Given the description of an element on the screen output the (x, y) to click on. 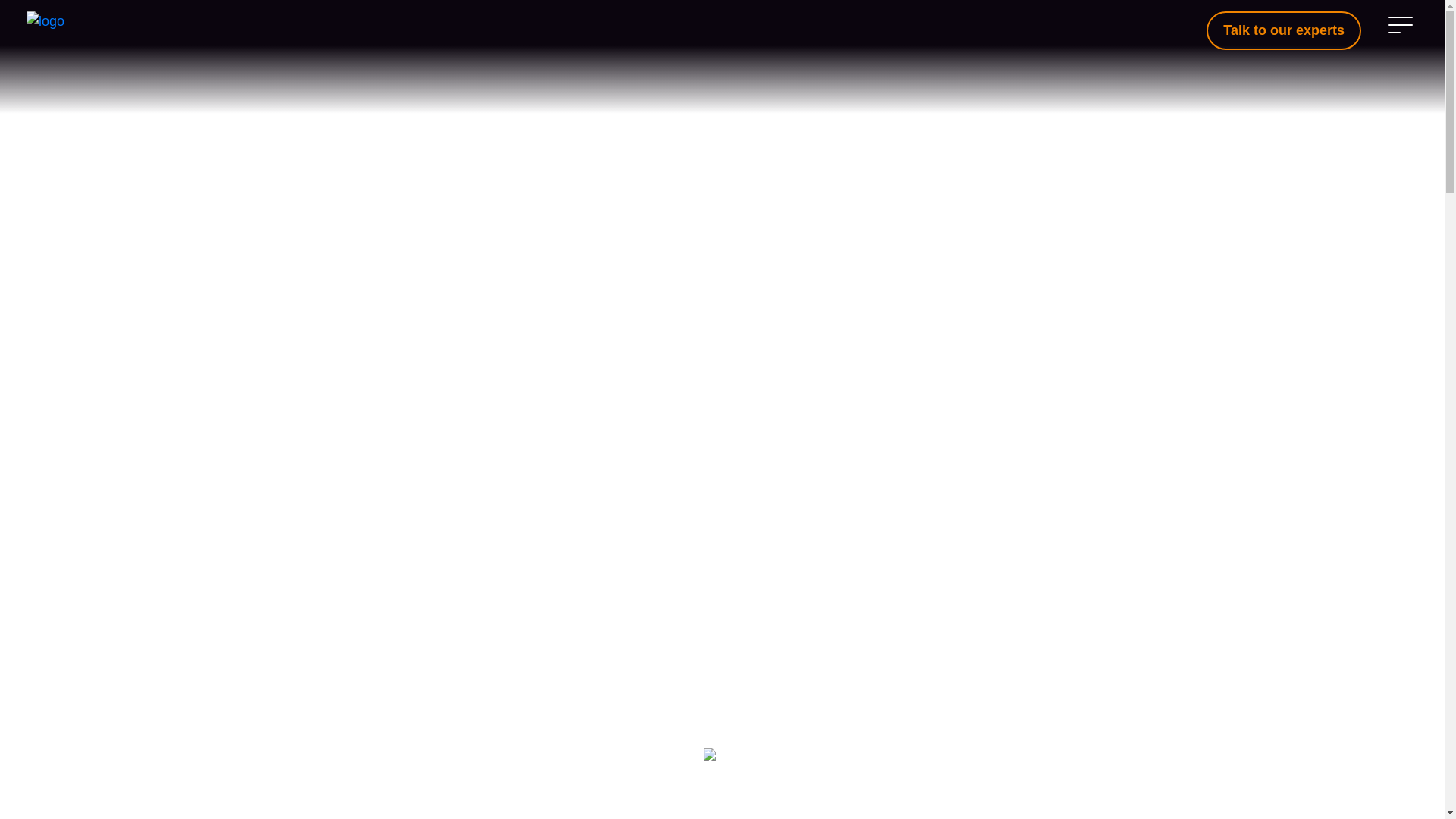
Talk to our experts (1284, 30)
